Given the description of an element on the screen output the (x, y) to click on. 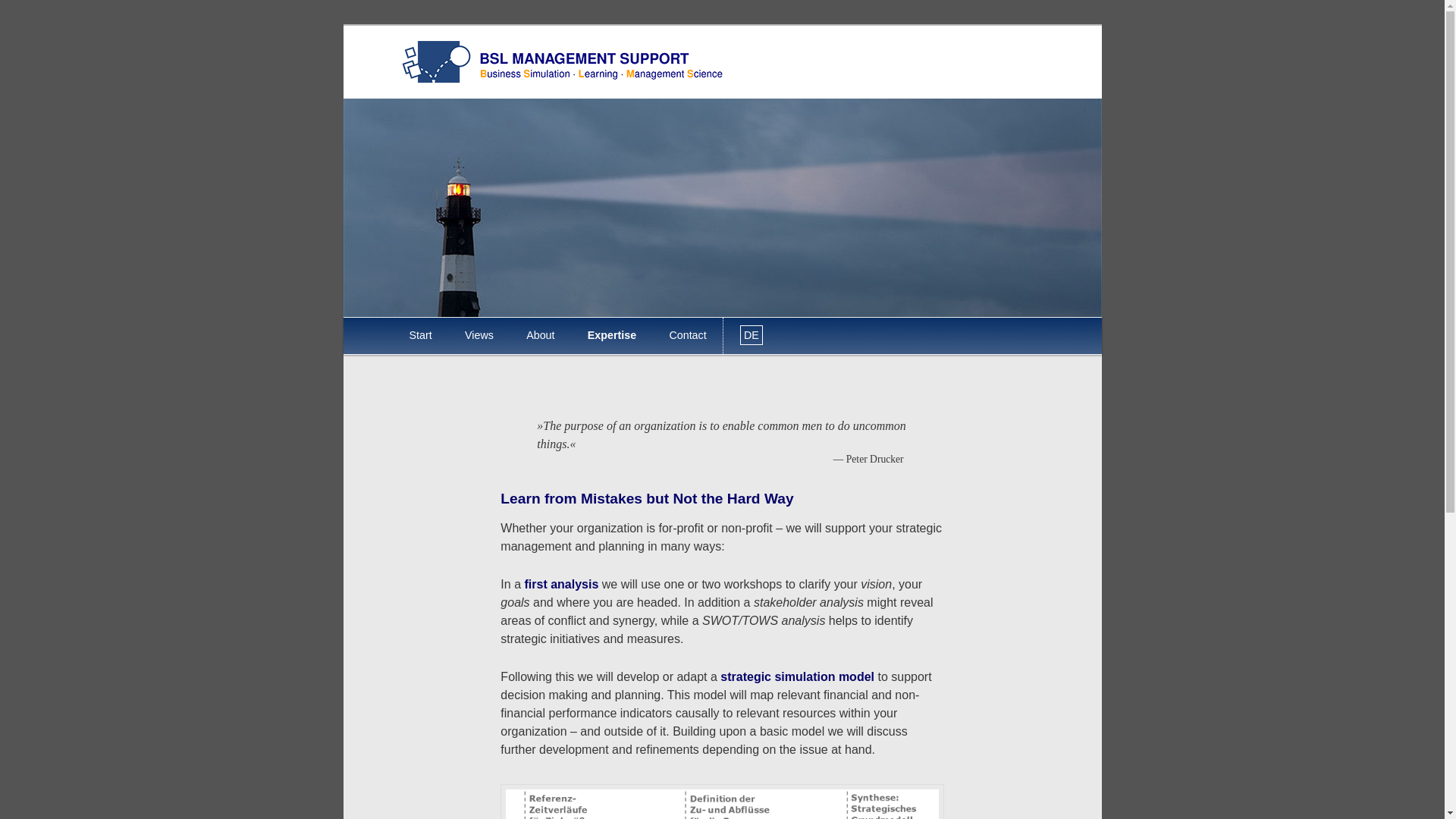
DE (750, 335)
Views (478, 335)
Start (420, 335)
Expertise (611, 335)
About (541, 335)
Skip to primary content (420, 317)
Contact (687, 335)
DE (750, 335)
